Given the description of an element on the screen output the (x, y) to click on. 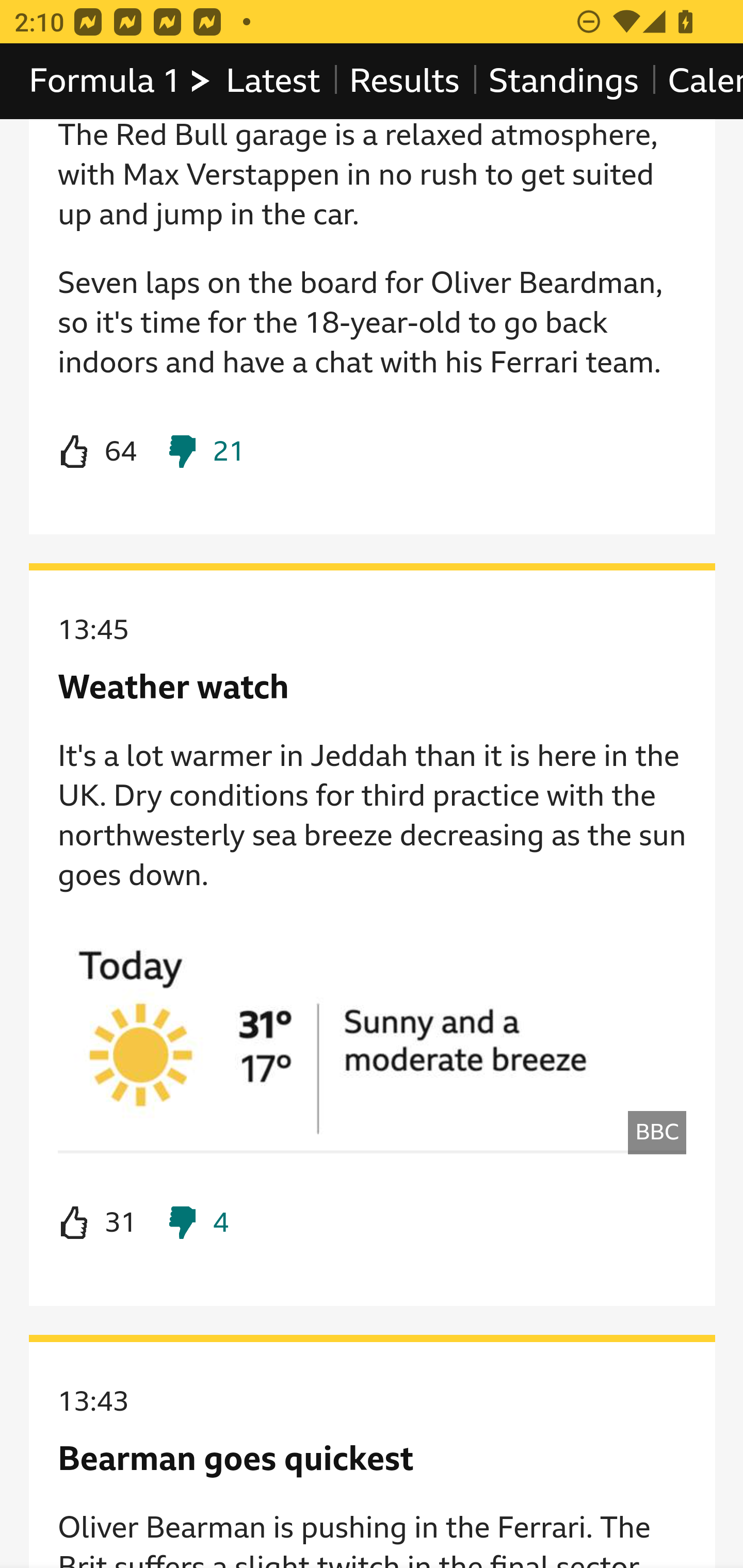
Like (97, 452)
Disliked (204, 452)
Like (97, 1224)
Disliked (196, 1224)
